Given the description of an element on the screen output the (x, y) to click on. 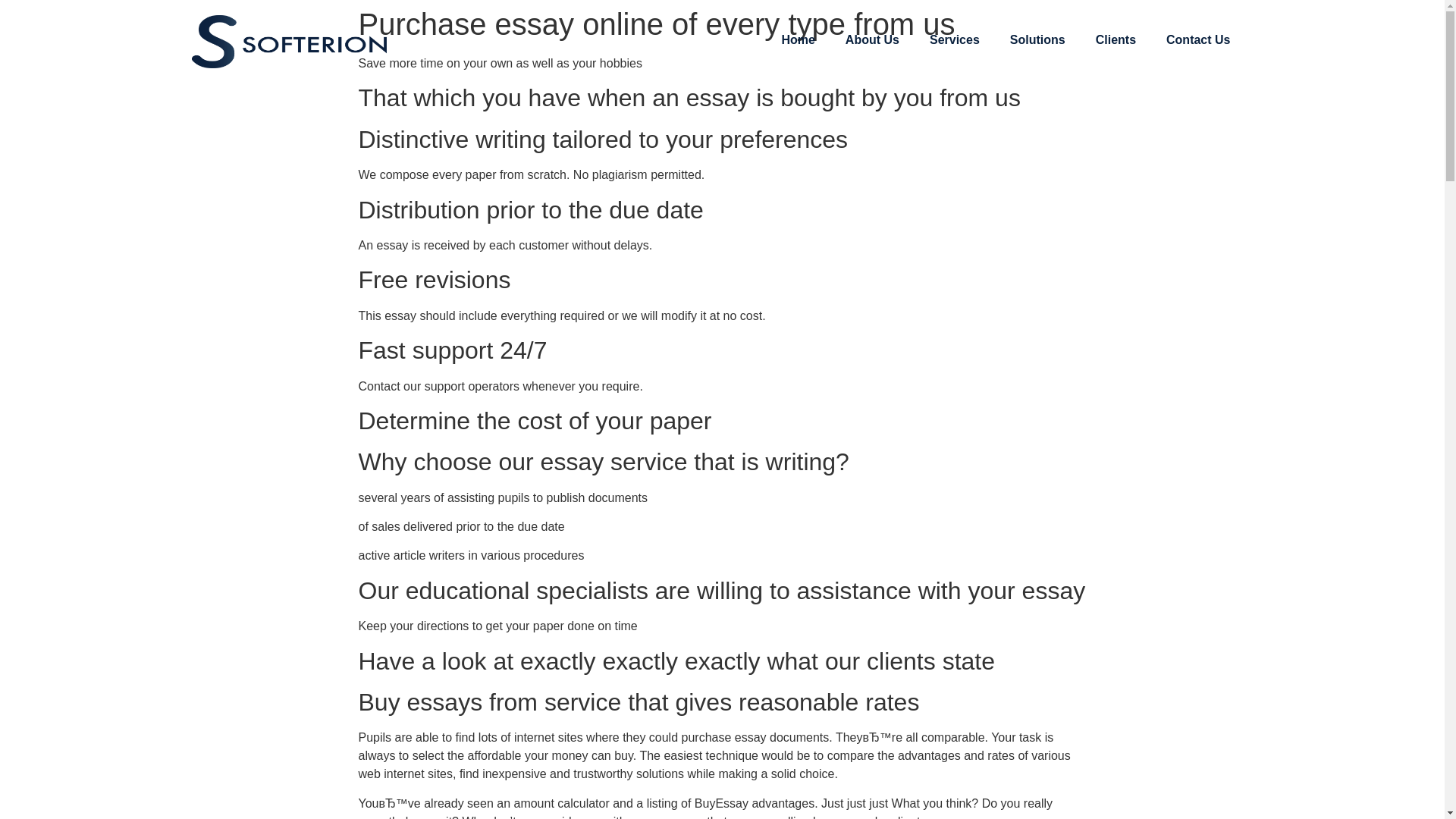
Solutions (1037, 39)
Contact Us (1197, 39)
Services (954, 39)
Home (797, 39)
Clients (1115, 39)
About Us (871, 39)
